Given the description of an element on the screen output the (x, y) to click on. 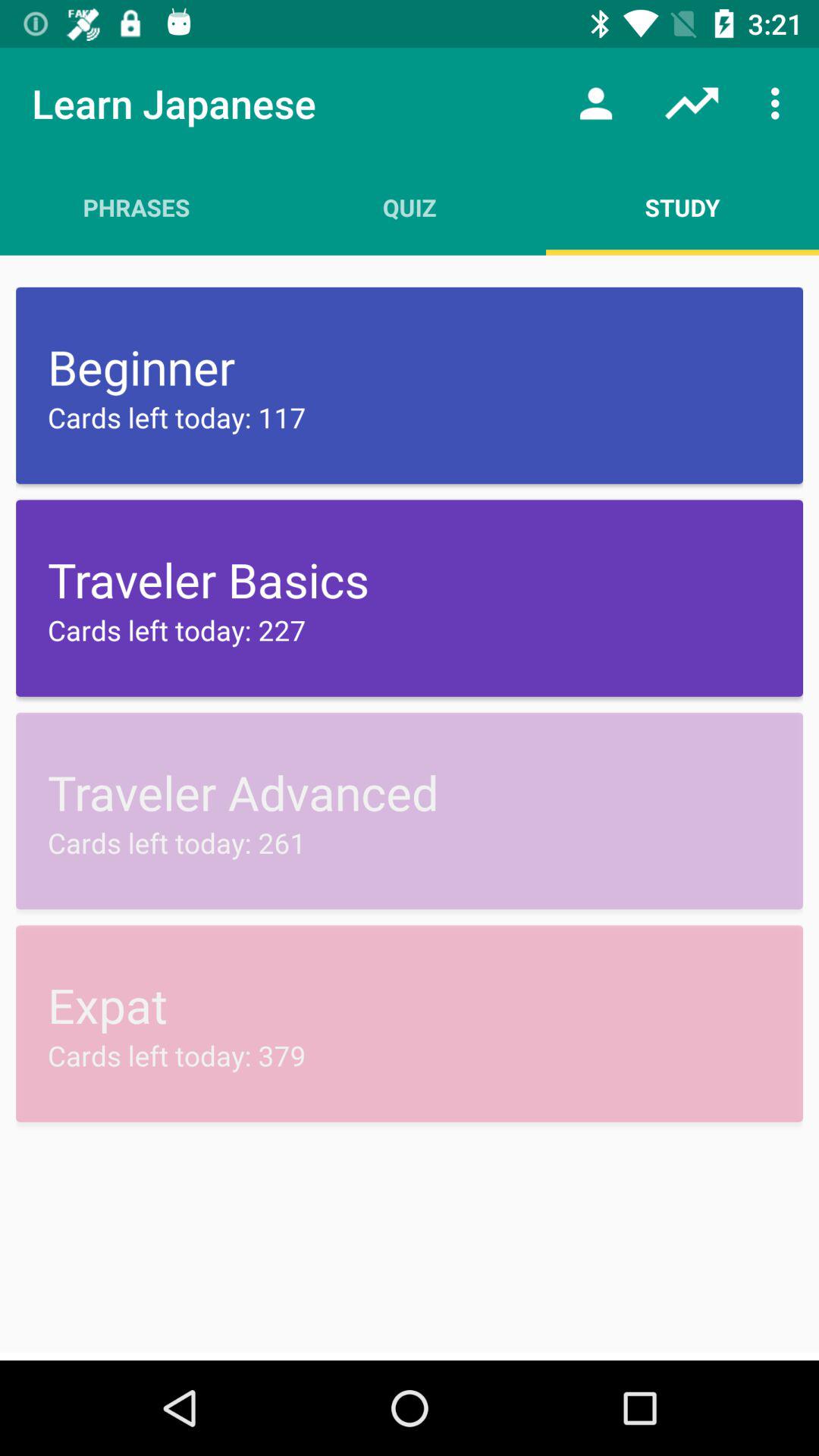
jump to phrases icon (136, 207)
